Given the description of an element on the screen output the (x, y) to click on. 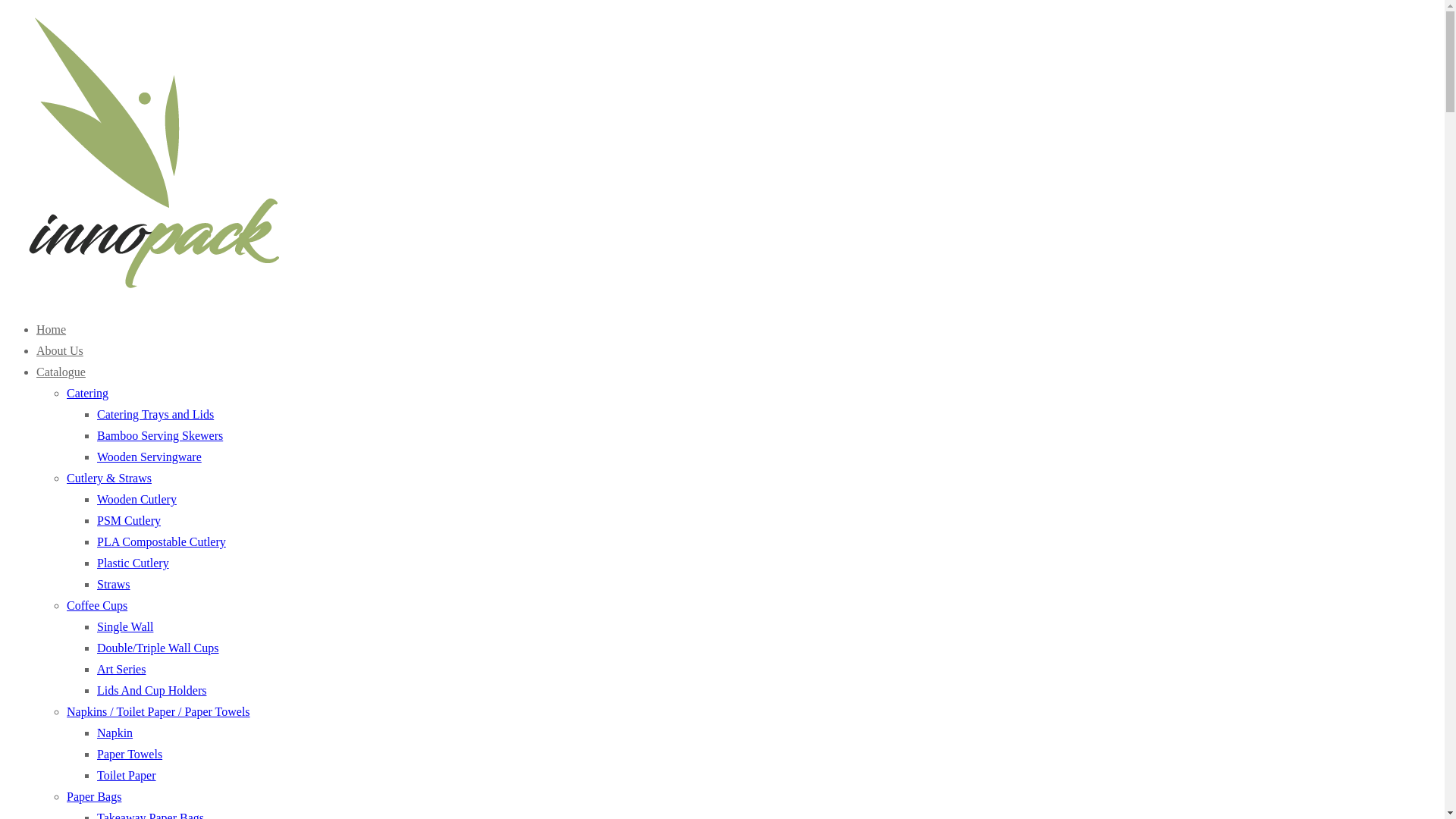
Wooden Servingware Element type: text (149, 456)
Paper Towels Element type: text (129, 753)
Straws Element type: text (113, 583)
PSM Cutlery Element type: text (128, 520)
Home Element type: text (50, 329)
Single Wall Element type: text (125, 626)
Catalogue Element type: text (60, 371)
Catering Trays and Lids Element type: text (155, 413)
Napkins / Toilet Paper / Paper Towels Element type: text (158, 711)
Plastic Cutlery Element type: text (133, 562)
Double/Triple Wall Cups Element type: text (158, 647)
Coffee Cups Element type: text (96, 605)
Cutlery & Straws Element type: text (108, 477)
Catering Element type: text (87, 392)
Toilet Paper Element type: text (126, 774)
Lids And Cup Holders Element type: text (151, 690)
Bamboo Serving Skewers Element type: text (159, 435)
PLA Compostable Cutlery Element type: text (161, 541)
Napkin Element type: text (114, 732)
Paper Bags Element type: text (93, 796)
Art Series Element type: text (121, 668)
Wooden Cutlery Element type: text (136, 498)
About Us Element type: text (59, 350)
